Given the description of an element on the screen output the (x, y) to click on. 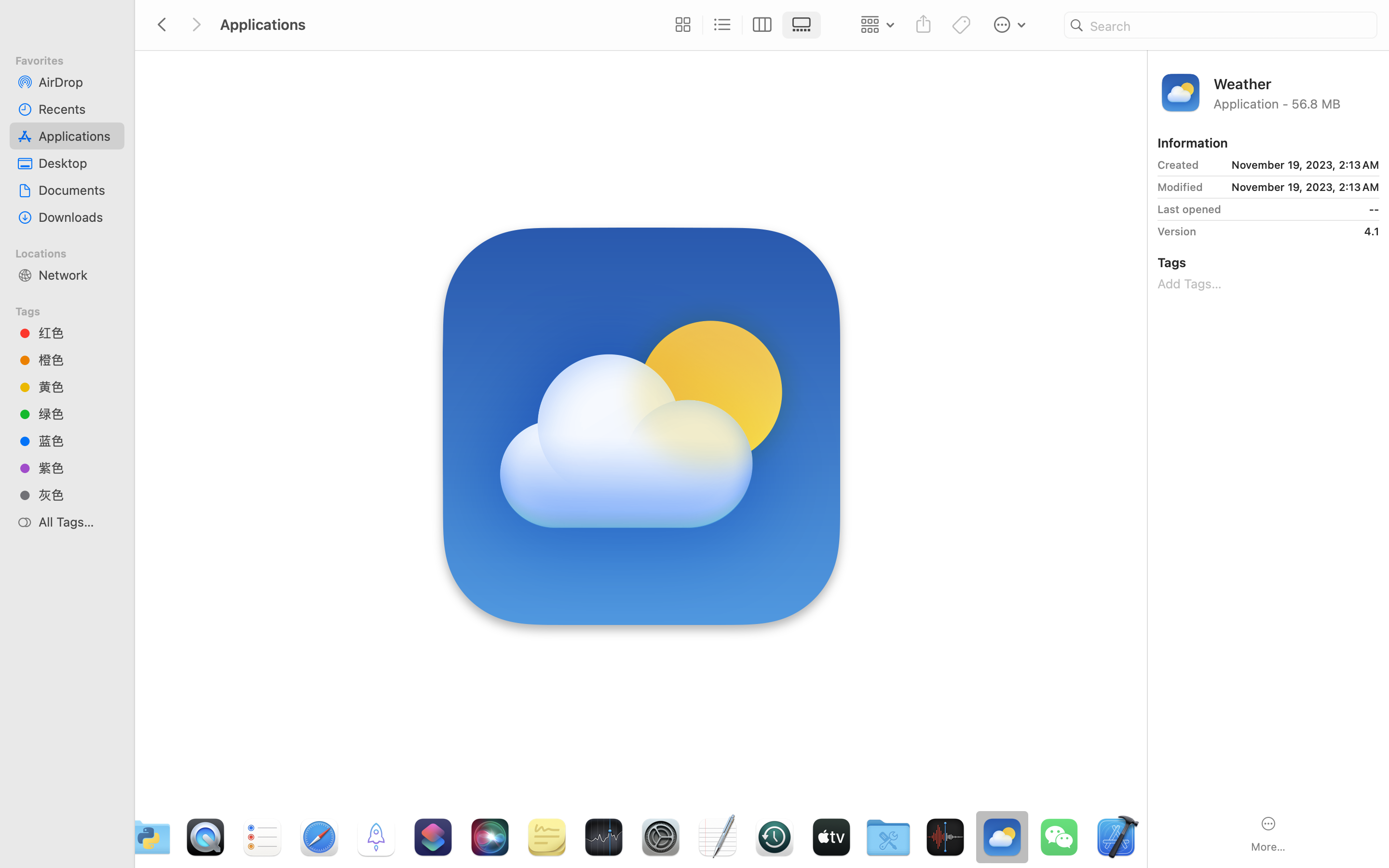
黄色 Element type: AXStaticText (77, 386)
AirDrop Element type: AXStaticText (77, 81)
Downloads Element type: AXStaticText (77, 216)
Applications Element type: AXStaticText (437, 827)
-- Element type: AXStaticText (1303, 209)
